Given the description of an element on the screen output the (x, y) to click on. 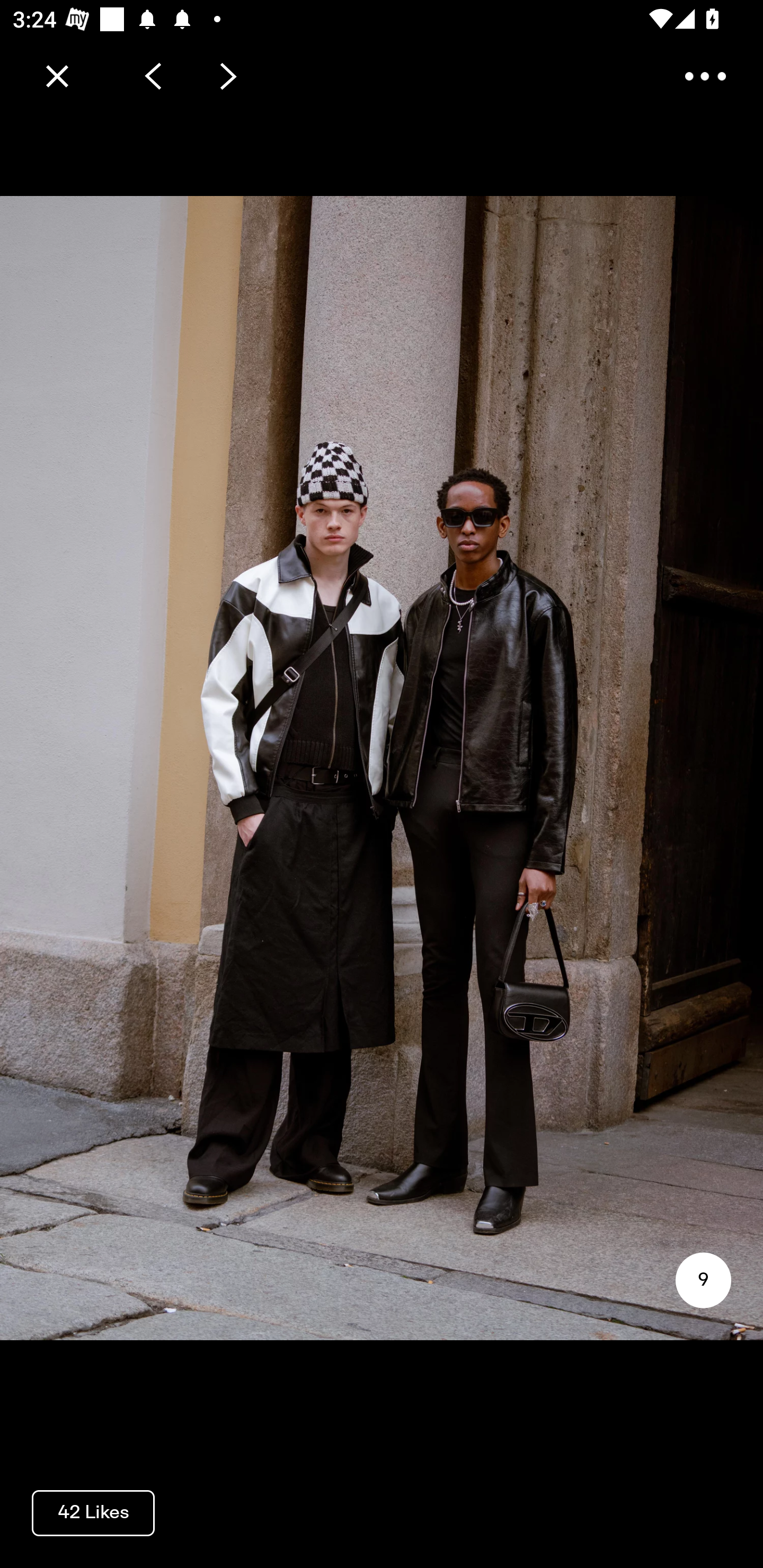
9 (702, 1279)
42 Likes (93, 1512)
